Given the description of an element on the screen output the (x, y) to click on. 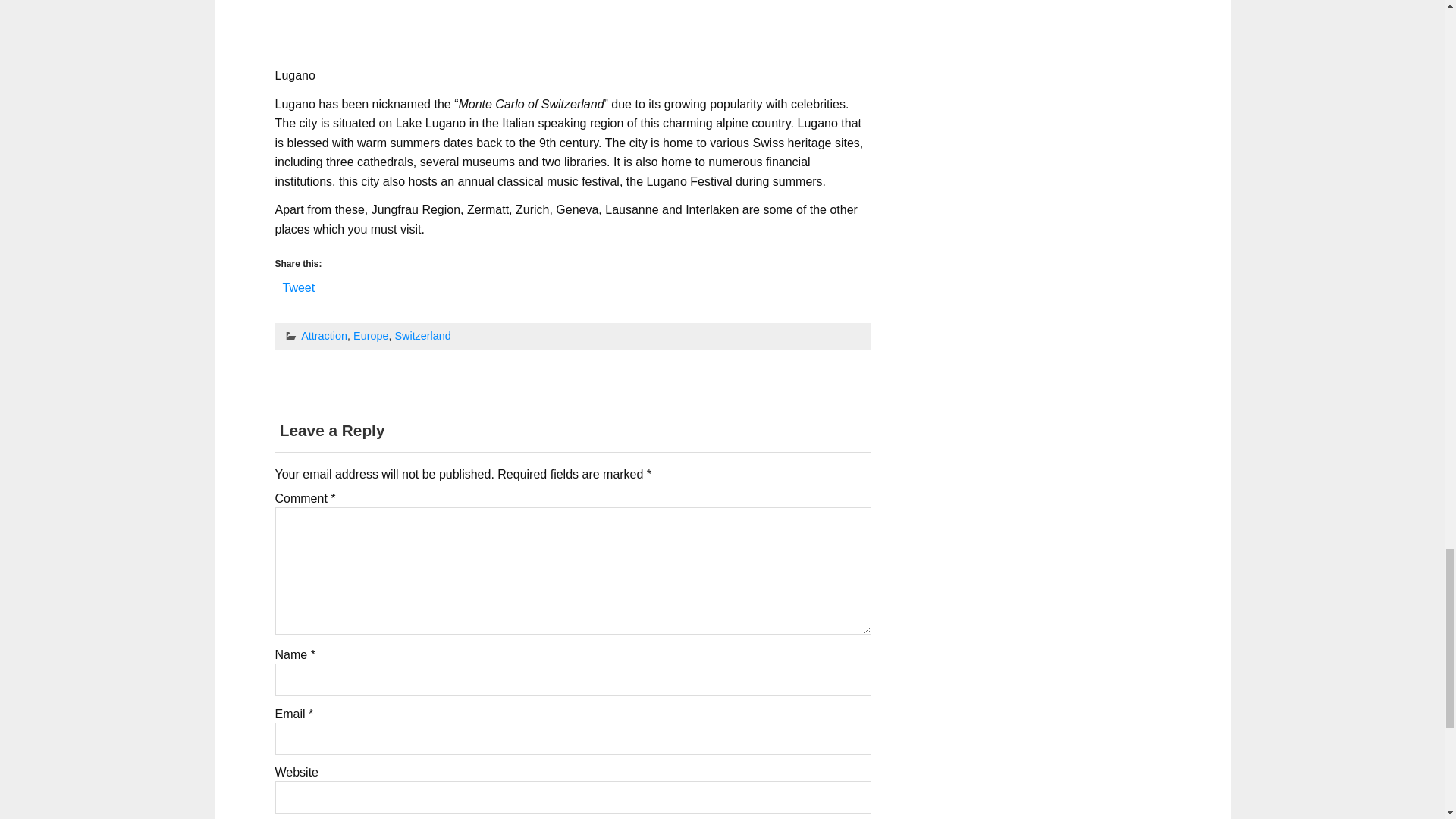
Tweet (298, 287)
Europe (370, 336)
Attraction (324, 336)
